Given the description of an element on the screen output the (x, y) to click on. 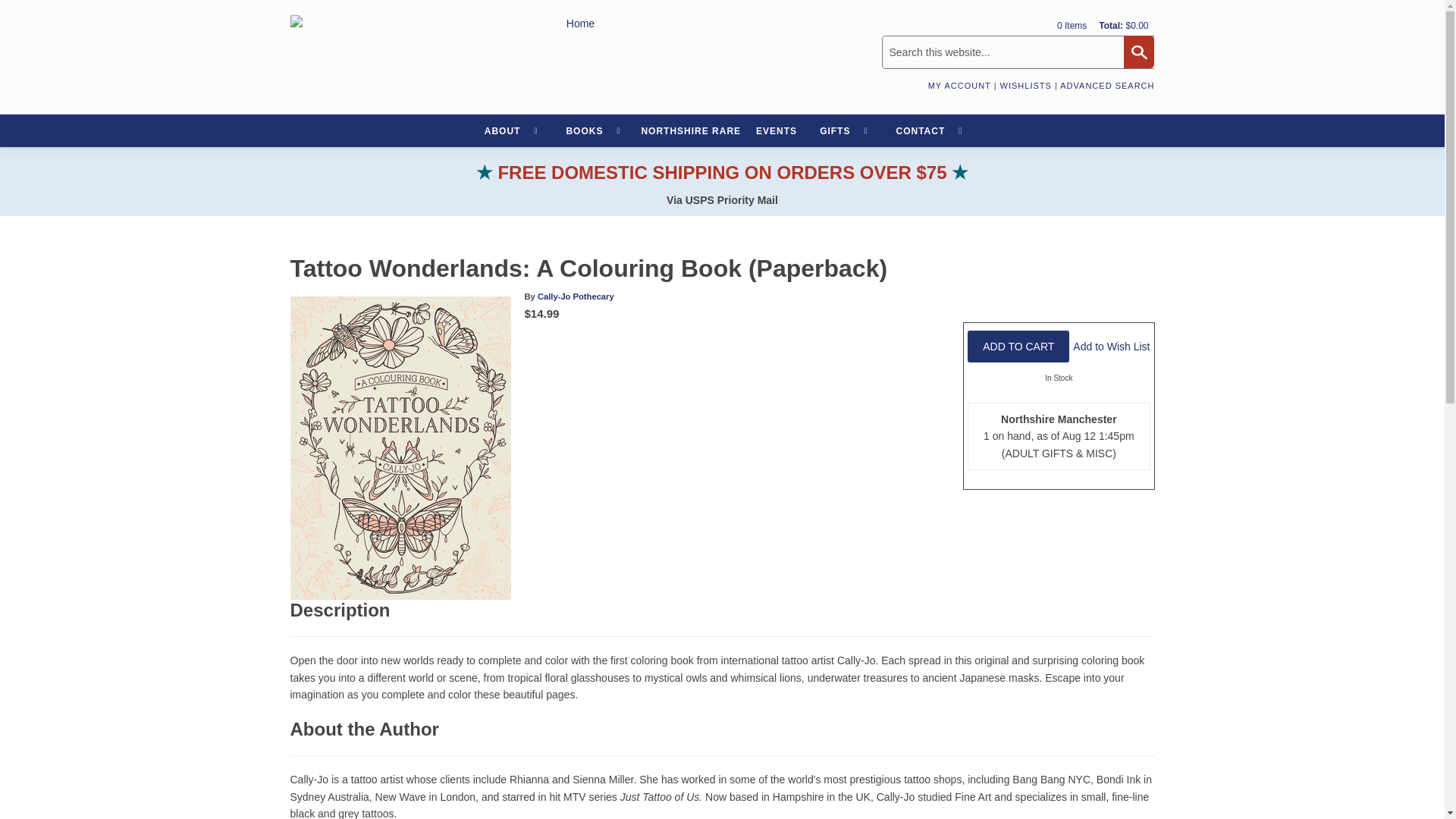
Search this website... (1017, 52)
Add to Cart (1018, 346)
MY ACCOUNT (959, 85)
ABOUT (509, 130)
ADVANCED SEARCH (1106, 85)
WISHLISTS (1025, 85)
